Given the description of an element on the screen output the (x, y) to click on. 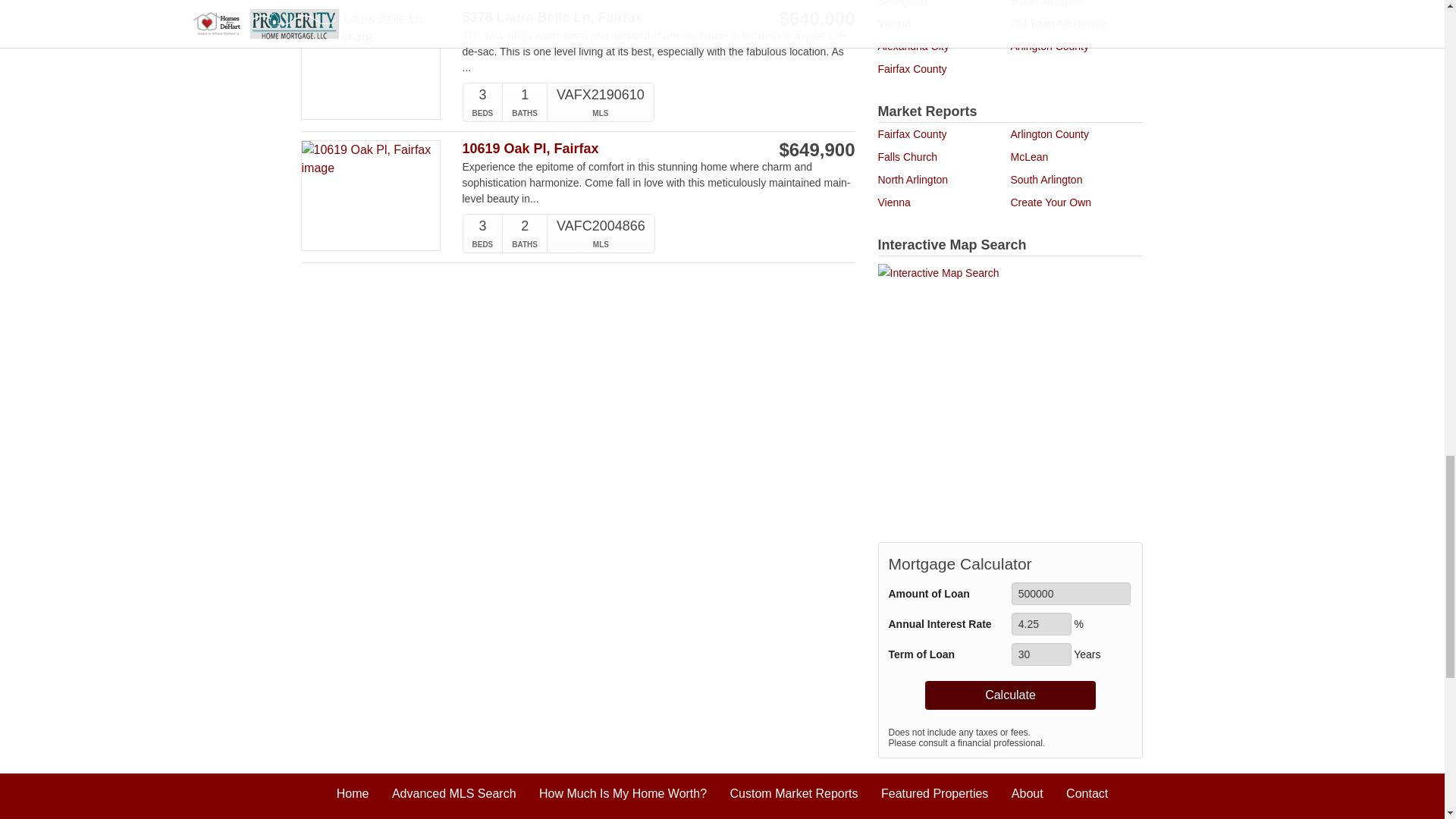
500000 (1071, 593)
4.25 (1041, 623)
5378 Laura Belle Ln, Fairfax (600, 17)
10619 Oak Pl, Fairfax (600, 148)
Interactive Map Search (1009, 394)
30 (1041, 653)
